Given the description of an element on the screen output the (x, y) to click on. 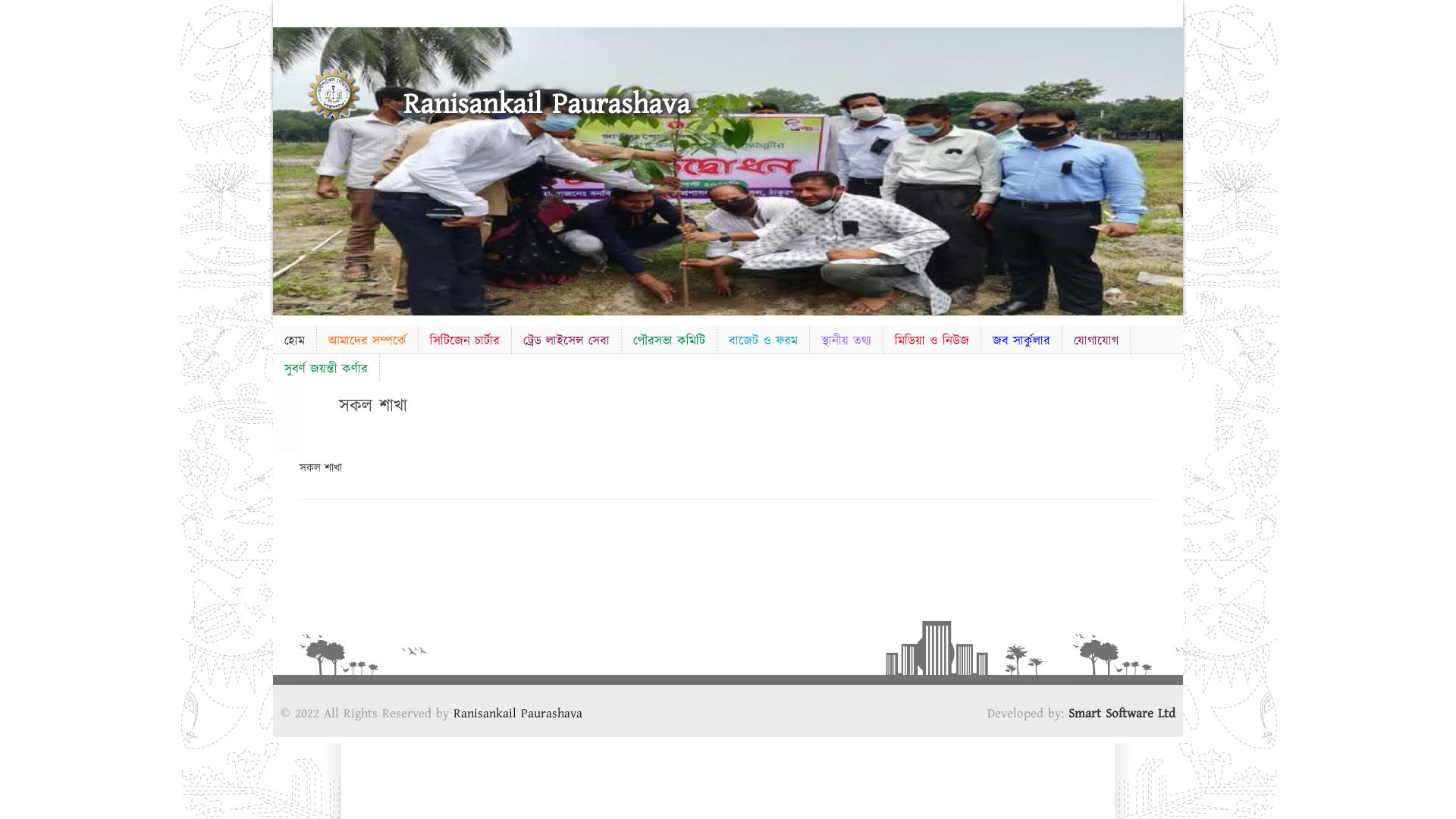
Smart Software Ltd Element type: text (1121, 713)
Next Element type: text (1168, 166)
Previous Element type: text (287, 166)
Ranisankail Paurashava Element type: text (517, 713)
Go Element type: text (493, 9)
Ranisankail Paurashava Element type: text (546, 104)

                    
                 Element type: hover (355, 93)
